Given the description of an element on the screen output the (x, y) to click on. 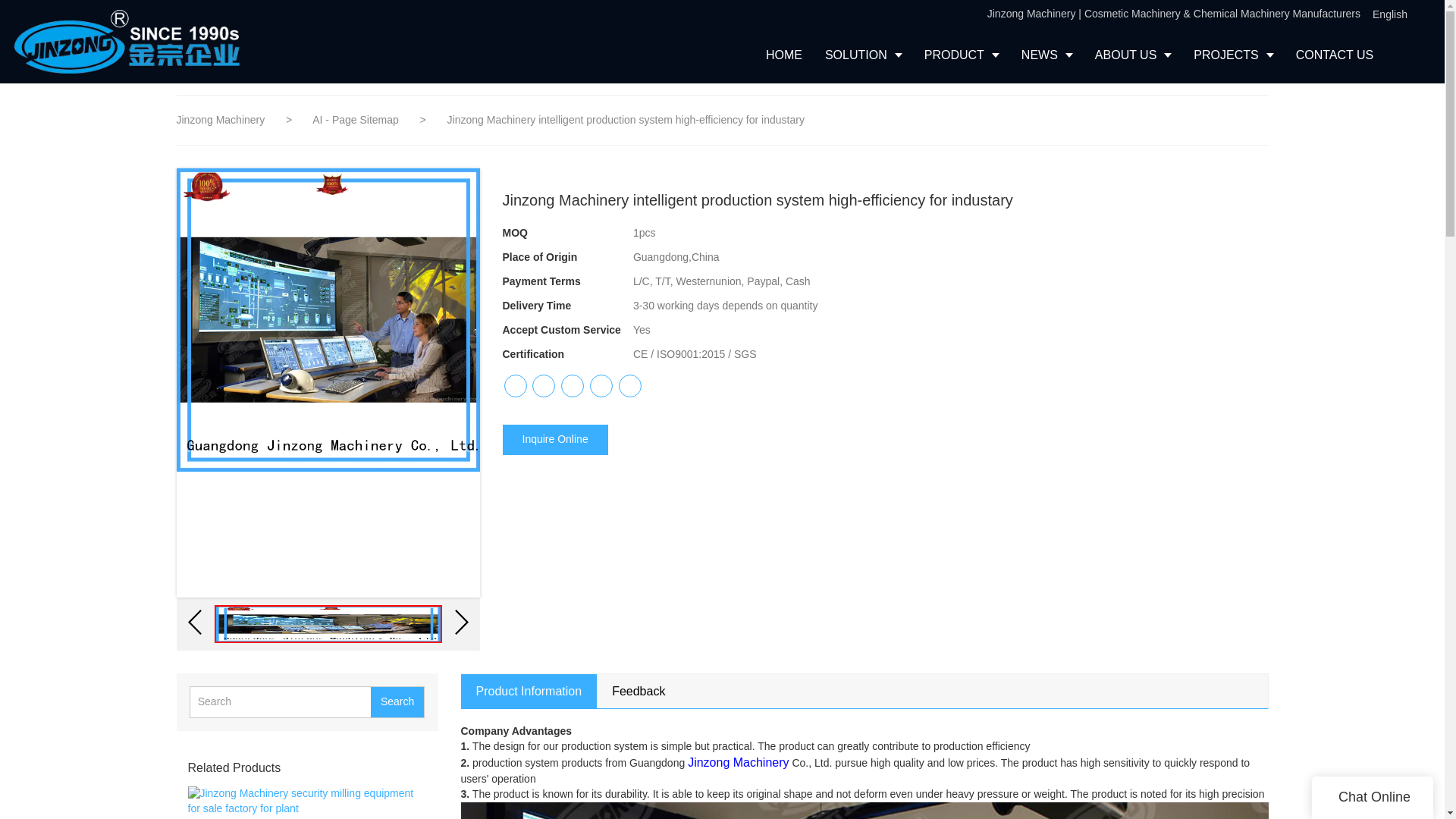
AI - Page Sitemap (357, 119)
HOME (783, 55)
PRODUCT (961, 55)
CONTACT US (1335, 55)
ABOUT US (1132, 55)
Jinzong Machinery (220, 119)
SOLUTION (862, 55)
NEWS (1046, 55)
PROJECTS (1233, 55)
